Given the description of an element on the screen output the (x, y) to click on. 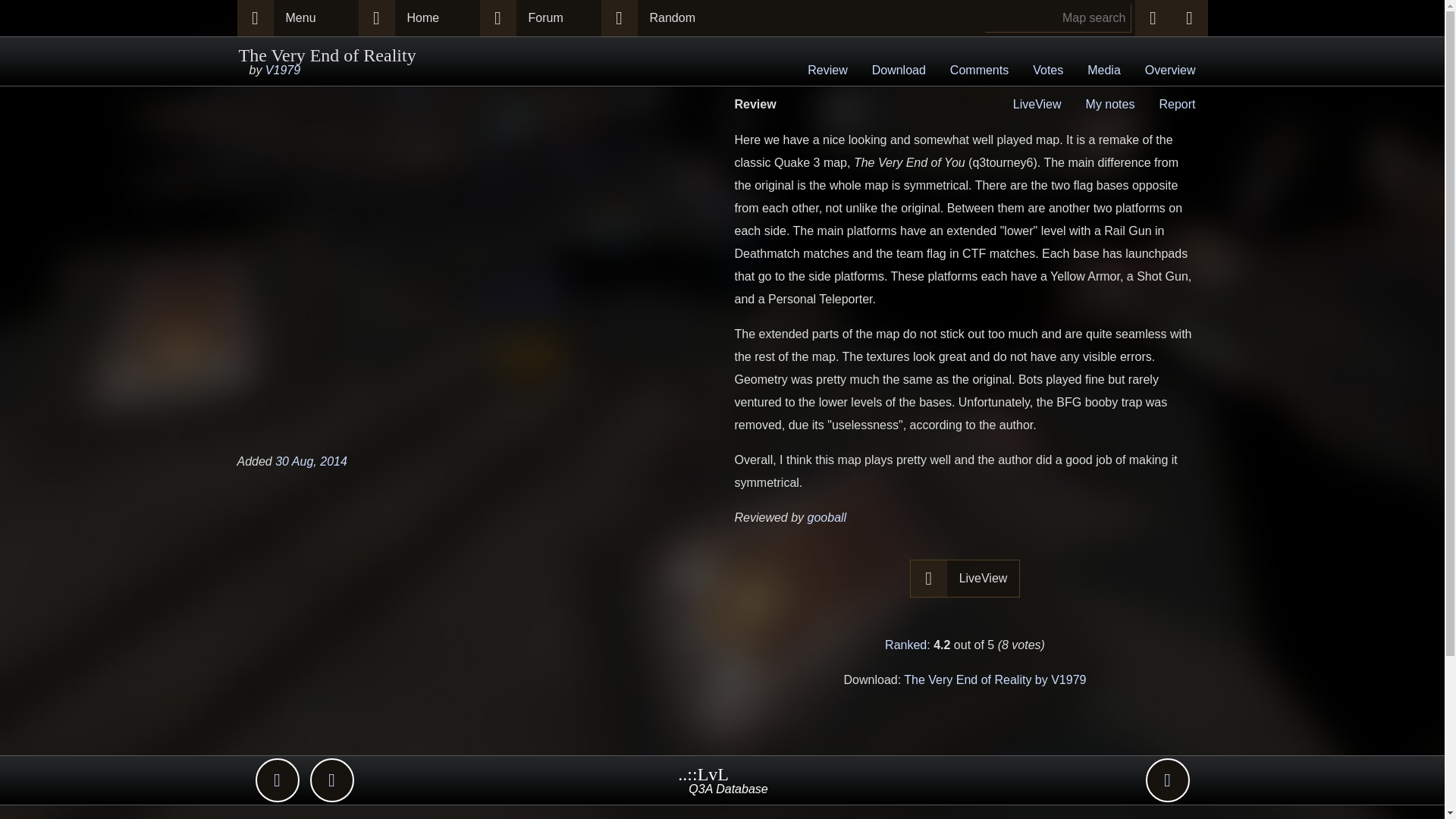
The Very End of Reality by V1979 (995, 679)
Media (1103, 70)
Login or register (1188, 18)
Votes (1047, 70)
Ranked (905, 644)
Menu (315, 18)
LiveView (983, 578)
View this map in your browser (965, 578)
My notes (1110, 103)
gooball (827, 517)
Download (898, 70)
Forum (557, 18)
Overview (1170, 70)
V1979 (281, 69)
